Given the description of an element on the screen output the (x, y) to click on. 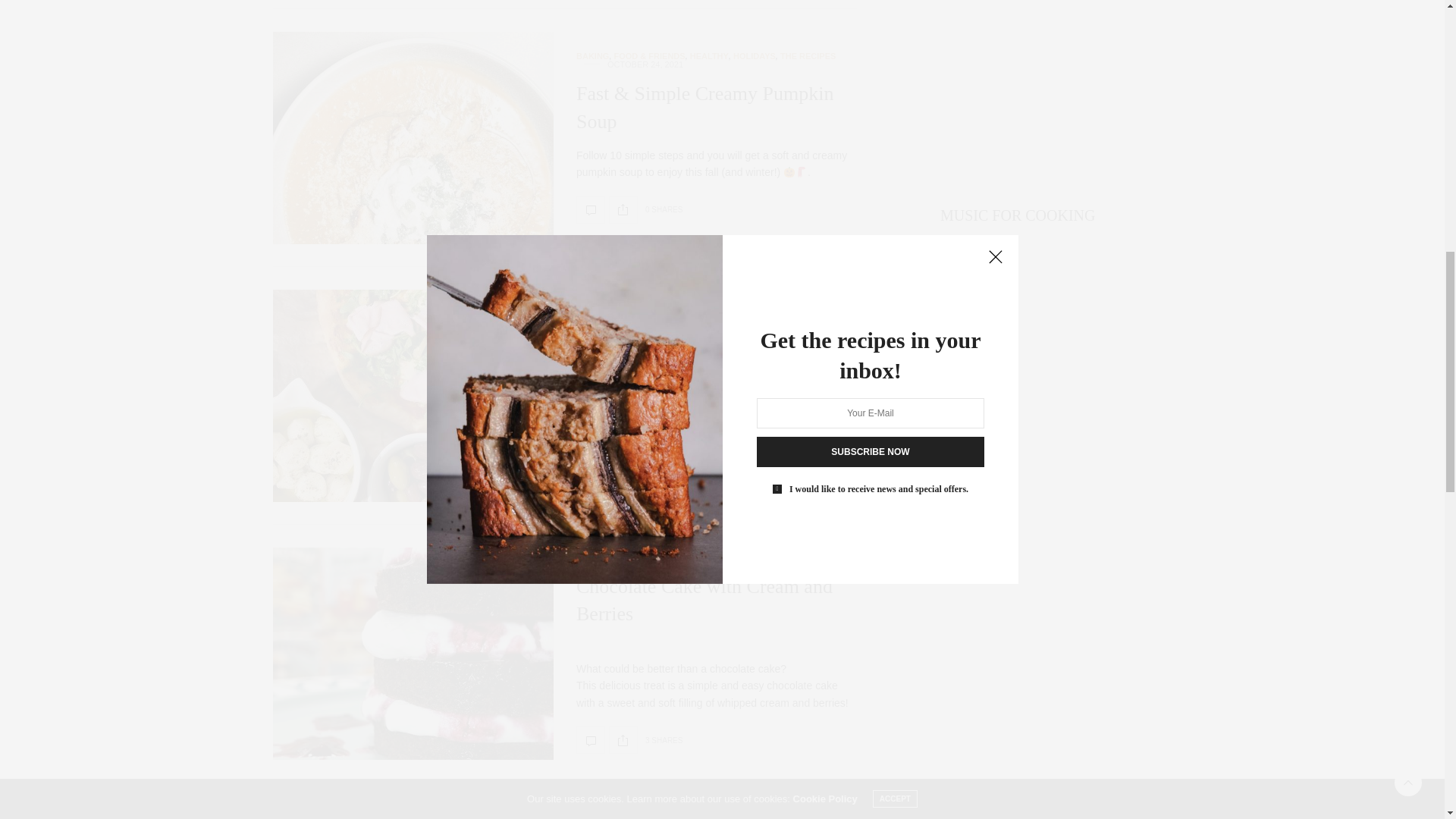
Holiday desserts ideas: Alfajores Argentinos (413, 812)
HOLIDAYS (754, 56)
BAKING (592, 56)
Chocolate Cake with Cream and Berries (413, 653)
Chocolate Cake with Cream and Berries (704, 599)
Chocolate Cake with Cream and Berries (590, 739)
HEALTHY (709, 56)
